Given the description of an element on the screen output the (x, y) to click on. 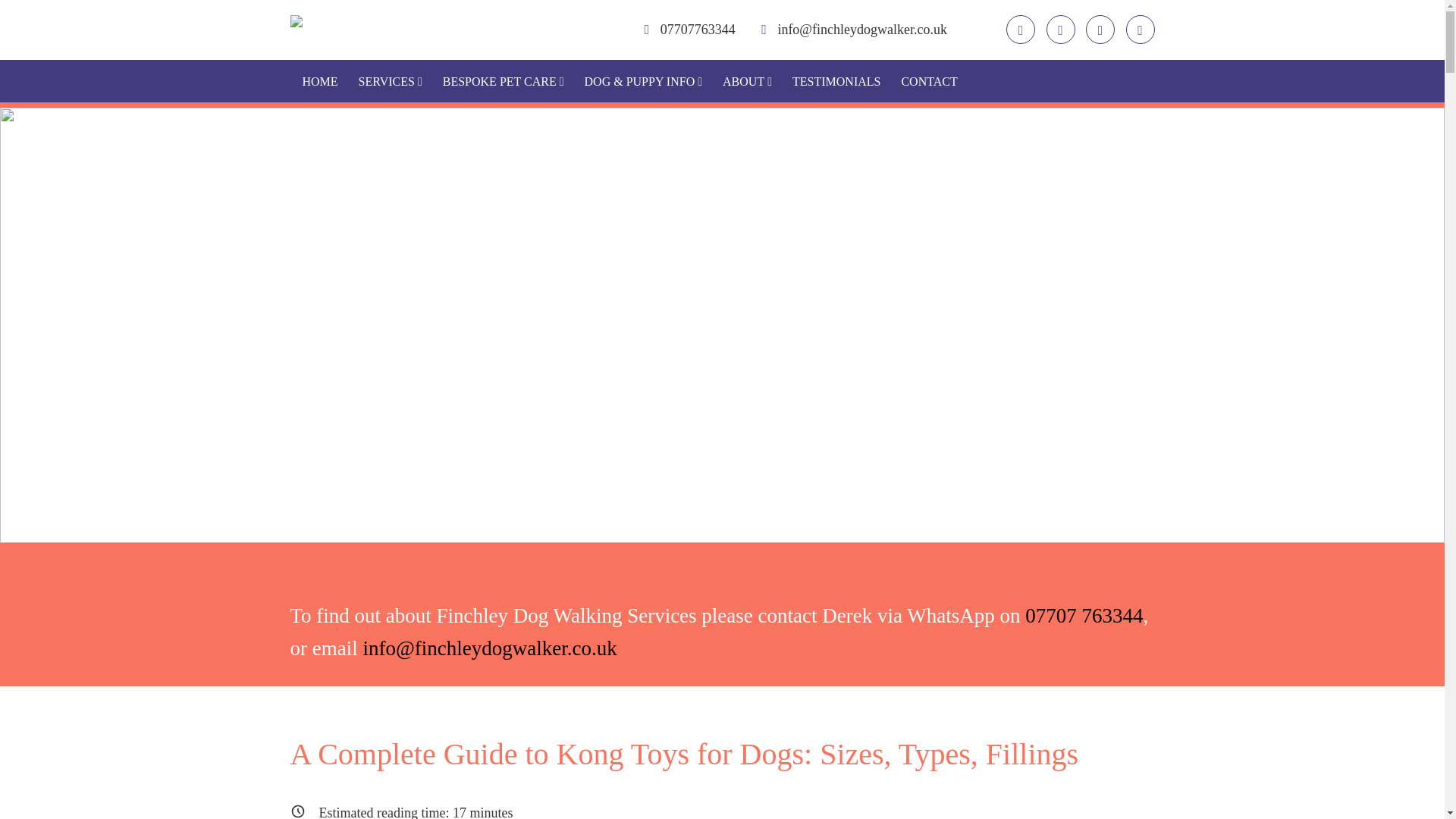
ABOUT (747, 81)
HOME (319, 81)
07707763344 (690, 29)
SERVICES (389, 81)
BESPOKE PET CARE (503, 81)
